Given the description of an element on the screen output the (x, y) to click on. 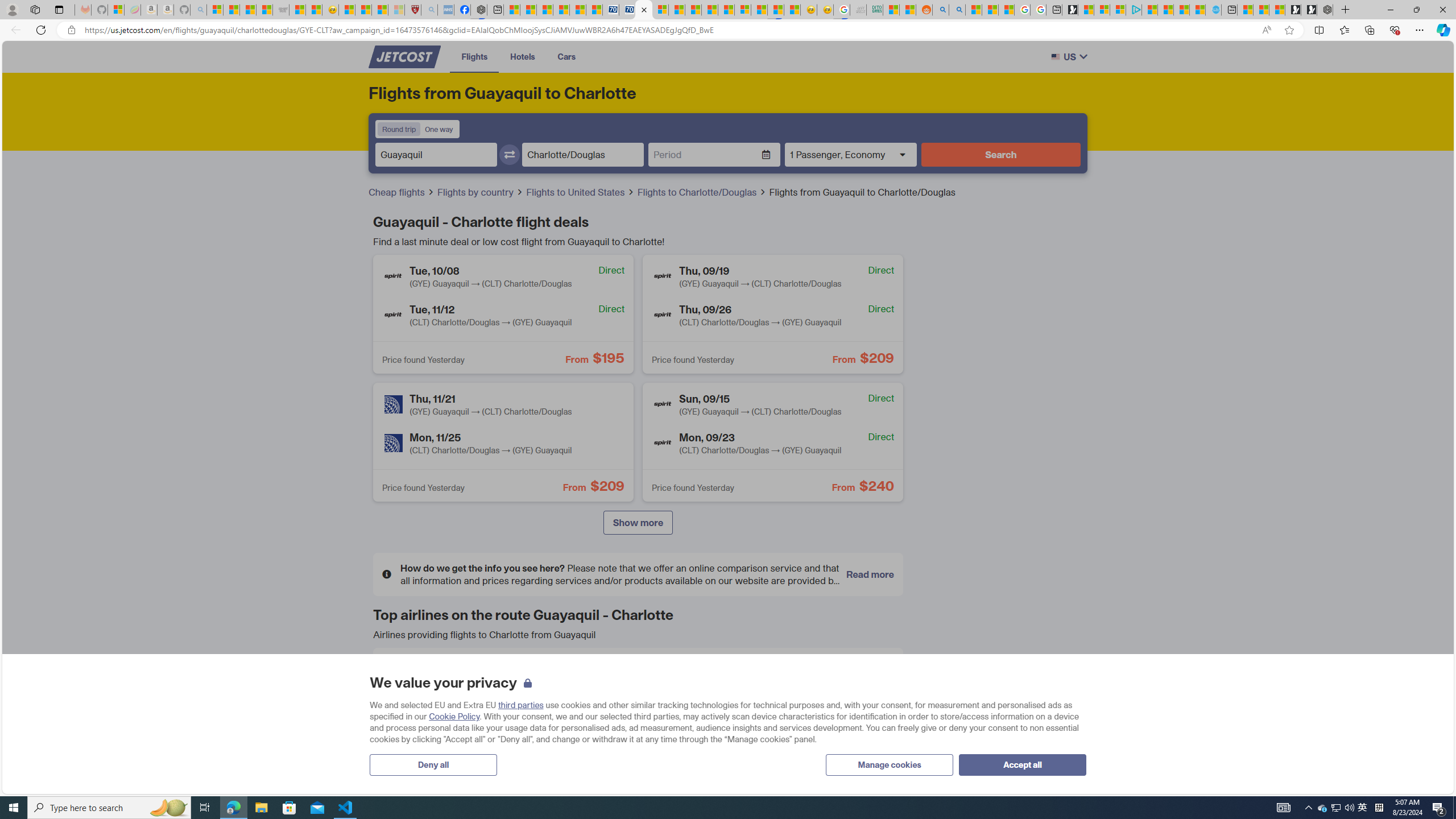
Cheap flights (401, 191)
Flights to United States (579, 191)
Cookie Policy (454, 716)
12 Popular Science Lies that Must be Corrected - Sleeping (395, 9)
American Airlines (400, 674)
